Given the description of an element on the screen output the (x, y) to click on. 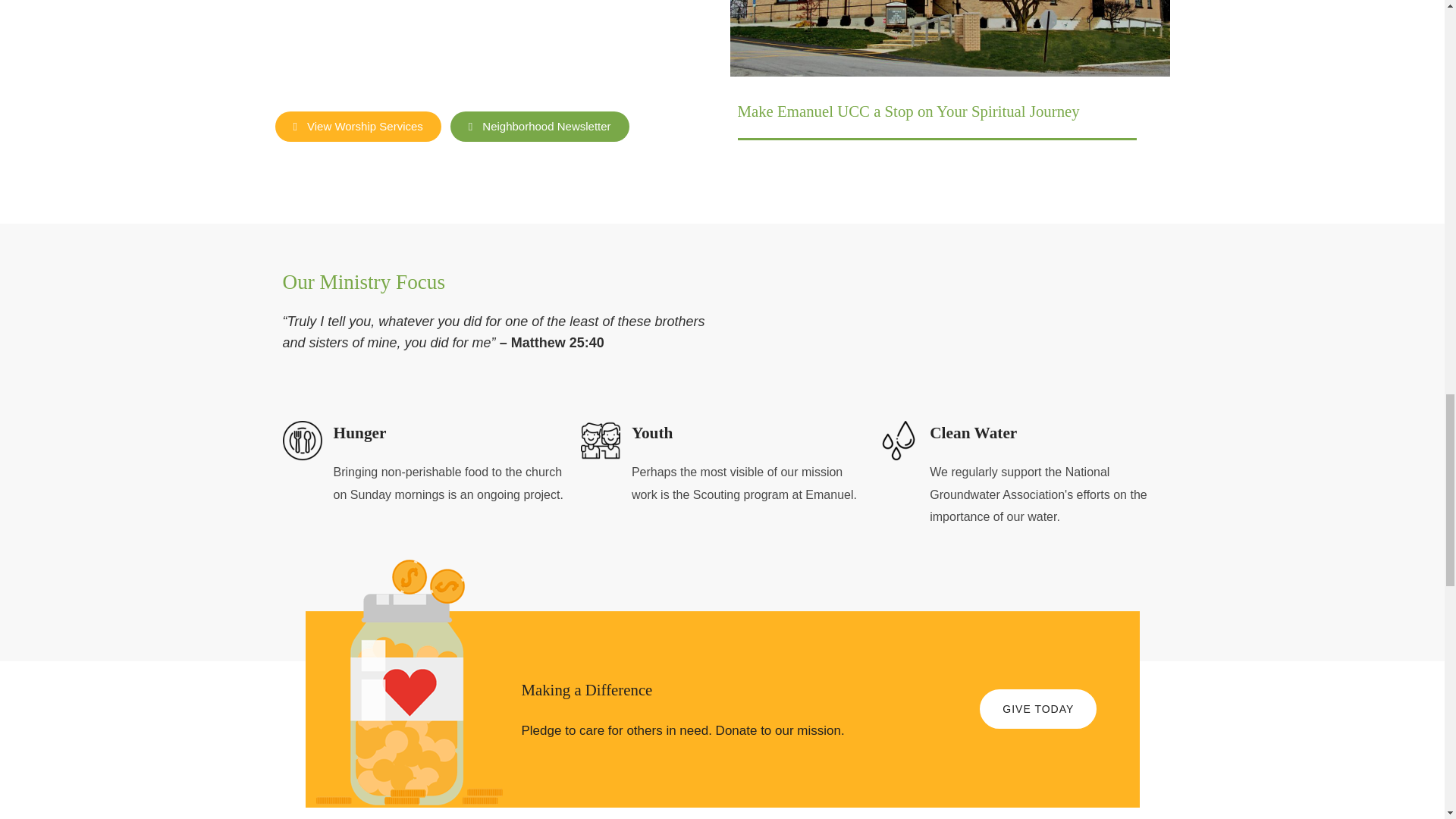
Hunger (360, 433)
Neighborhood Newsletter (538, 126)
Youth (651, 433)
View Worship Services (358, 126)
GIVE TODAY (1037, 708)
Clean Water (973, 433)
